Given the description of an element on the screen output the (x, y) to click on. 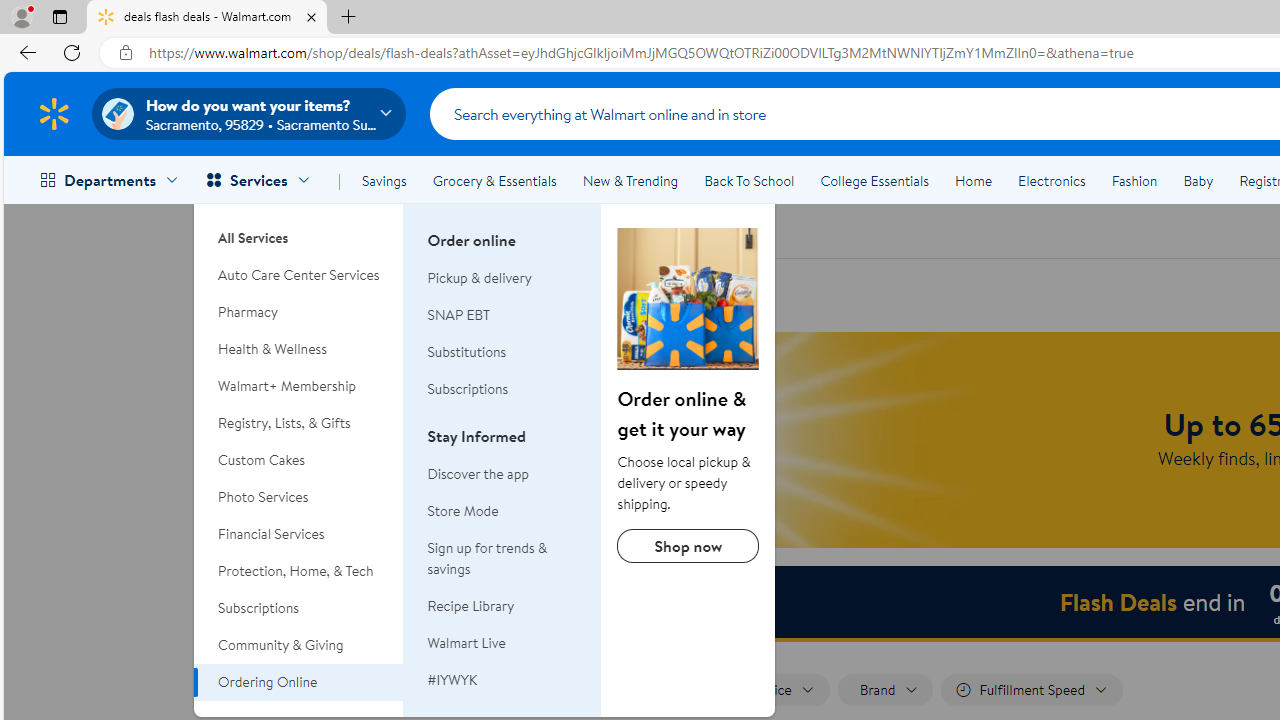
Health & Wellness (299, 349)
Store Mode (463, 511)
Baby (1197, 180)
Savings (384, 180)
Walmart+ Membership (299, 385)
Custom Cakes (299, 460)
deals flash deals - Walmart.com (207, 17)
College Essentials (874, 180)
Shop now (688, 546)
Store Mode (502, 511)
Walmart Live (466, 642)
Fashion (1134, 180)
